Given the description of an element on the screen output the (x, y) to click on. 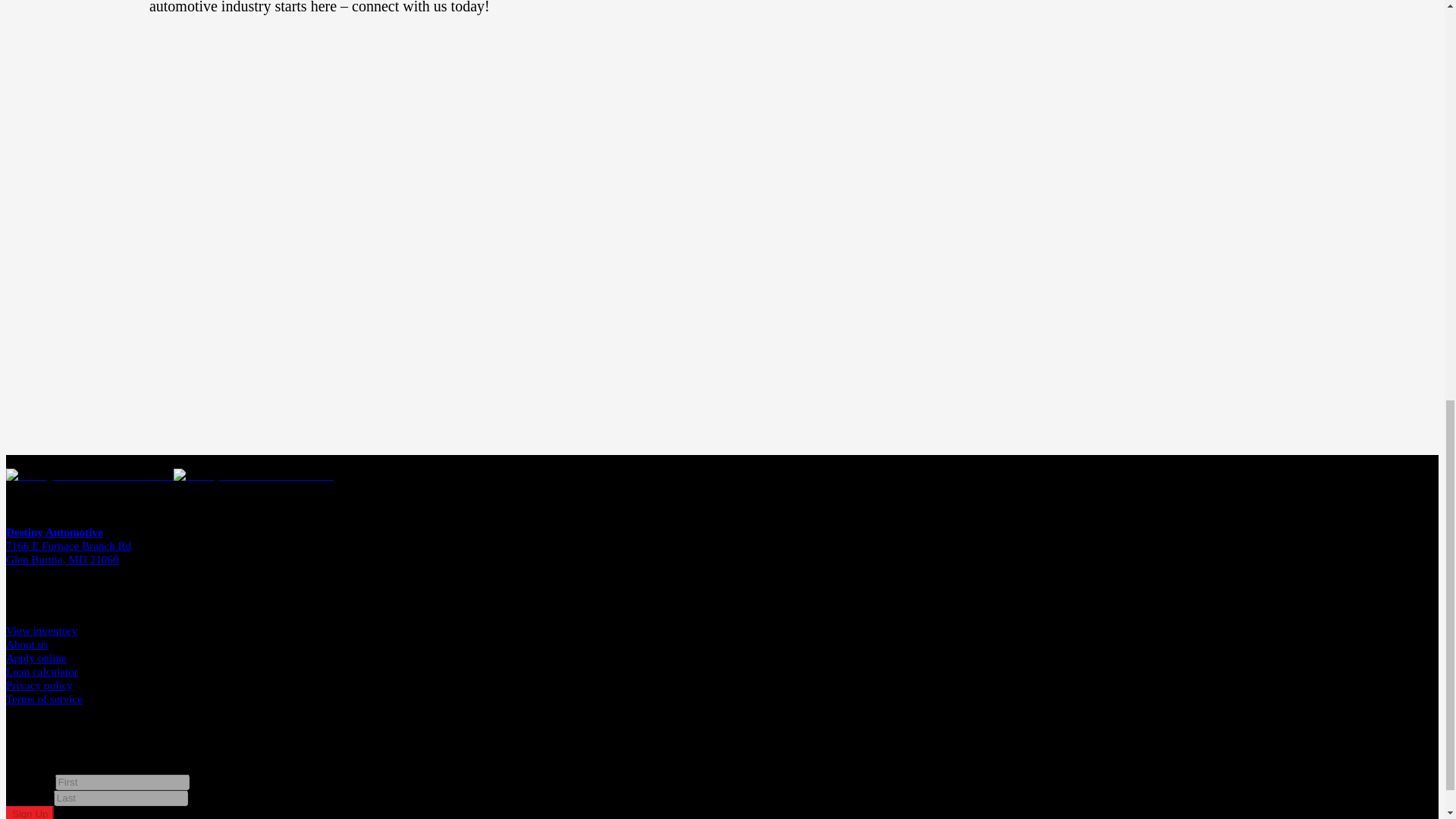
Apply online (35, 657)
Loan calculator (41, 671)
Privacy policy (38, 684)
Sign Up (29, 812)
About us (26, 644)
Terms of service (43, 698)
View inventory (41, 630)
